Given the description of an element on the screen output the (x, y) to click on. 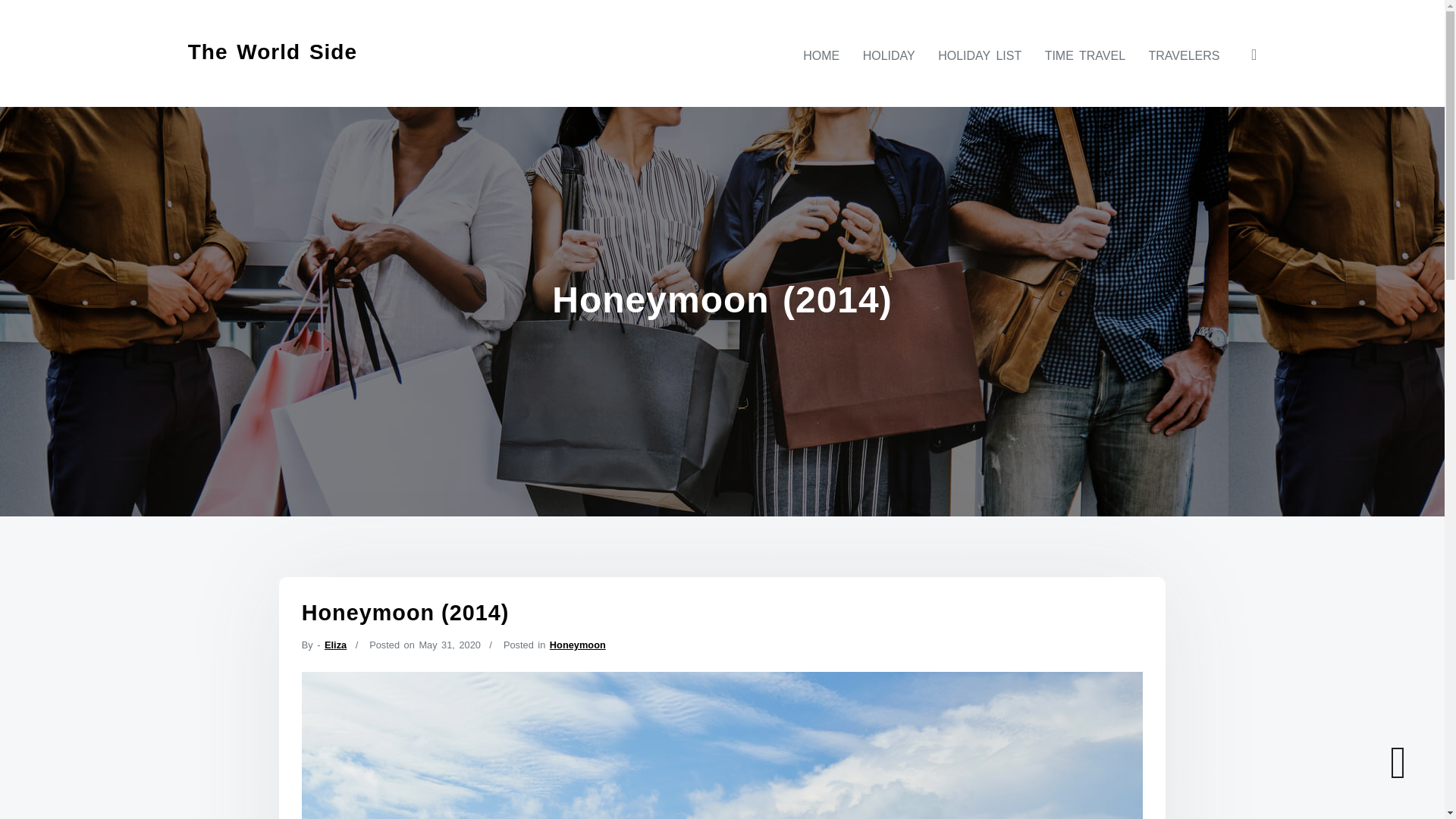
TRAVELERS (1184, 55)
Eliza (335, 644)
HOME (820, 55)
TIME TRAVEL (1084, 55)
The World Side (271, 51)
Honeymoon (577, 644)
HOLIDAY (888, 55)
HOLIDAY LIST (979, 55)
